Given the description of an element on the screen output the (x, y) to click on. 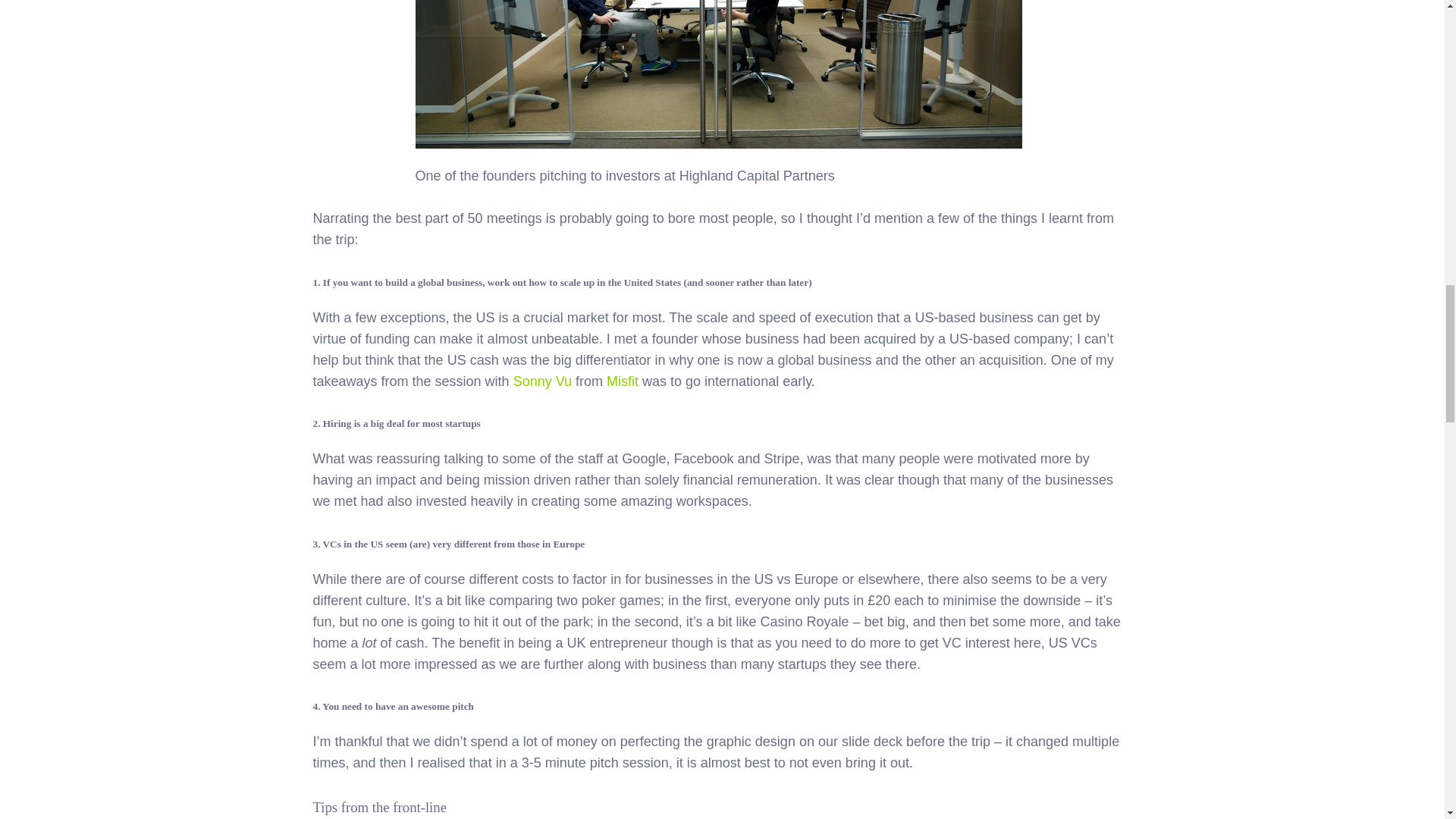
Sonny Vu (542, 381)
Misfit (623, 381)
